Given the description of an element on the screen output the (x, y) to click on. 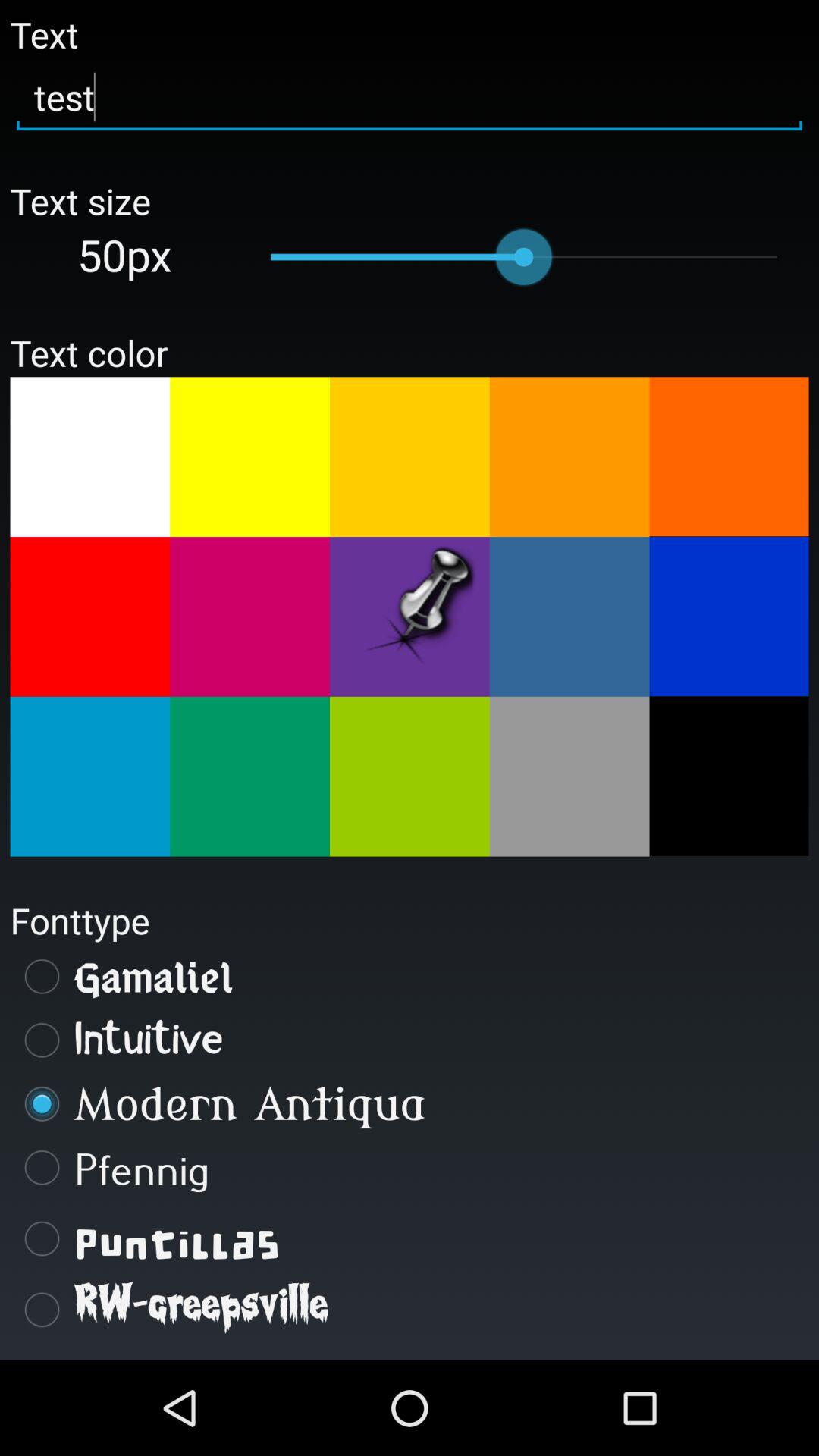
text color selection (569, 616)
